Given the description of an element on the screen output the (x, y) to click on. 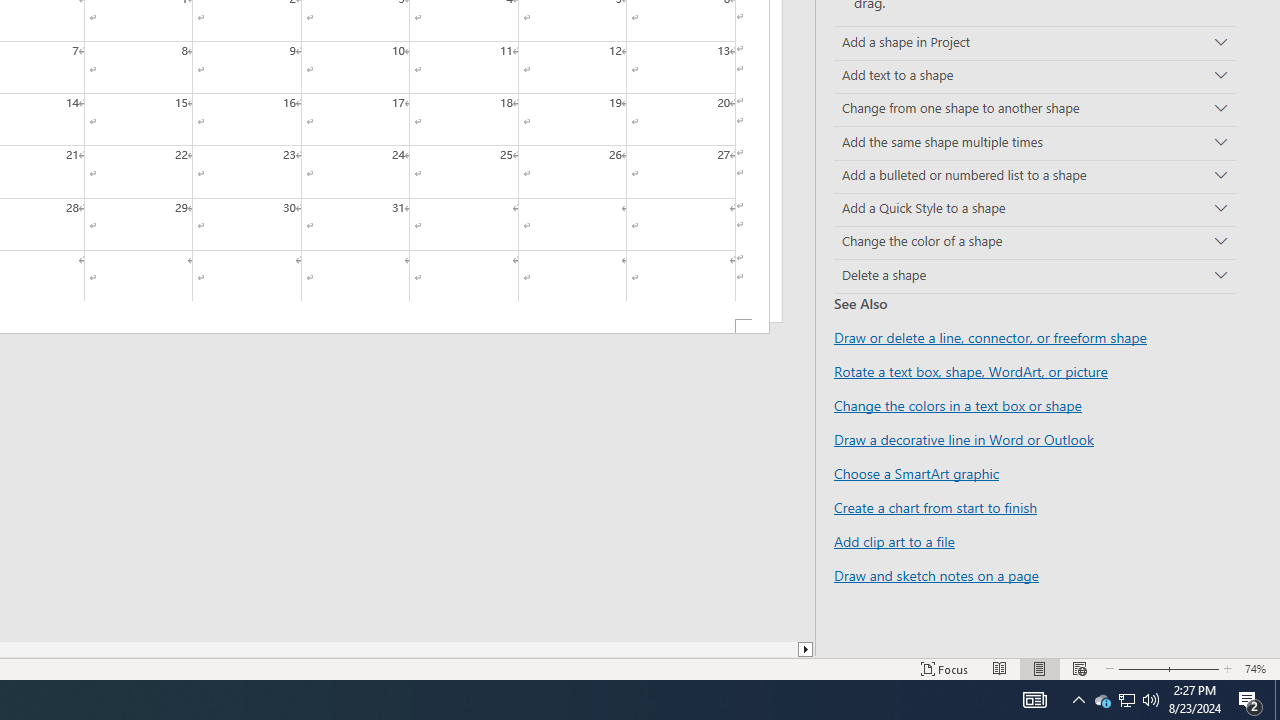
Draw or delete a line, connector, or freeform shape (990, 337)
Change the color of a shape (1035, 242)
Draw a decorative line in Word or Outlook (964, 439)
Add a shape in Project (1035, 43)
Change from one shape to another shape (1035, 109)
Create a chart from start to finish (935, 507)
Delete a shape (1035, 276)
